Given the description of an element on the screen output the (x, y) to click on. 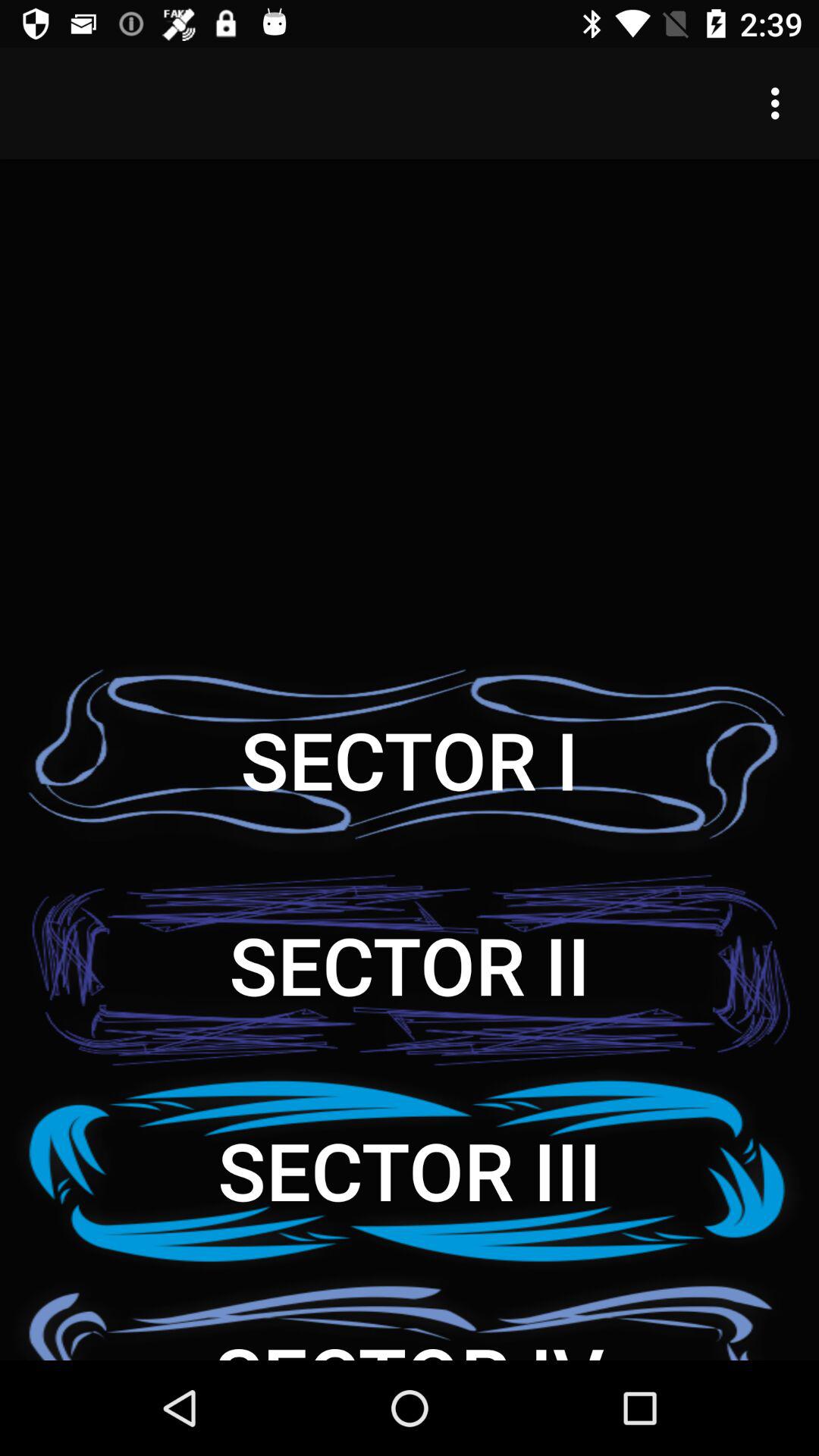
choose item below the sector ii icon (409, 1169)
